Given the description of an element on the screen output the (x, y) to click on. 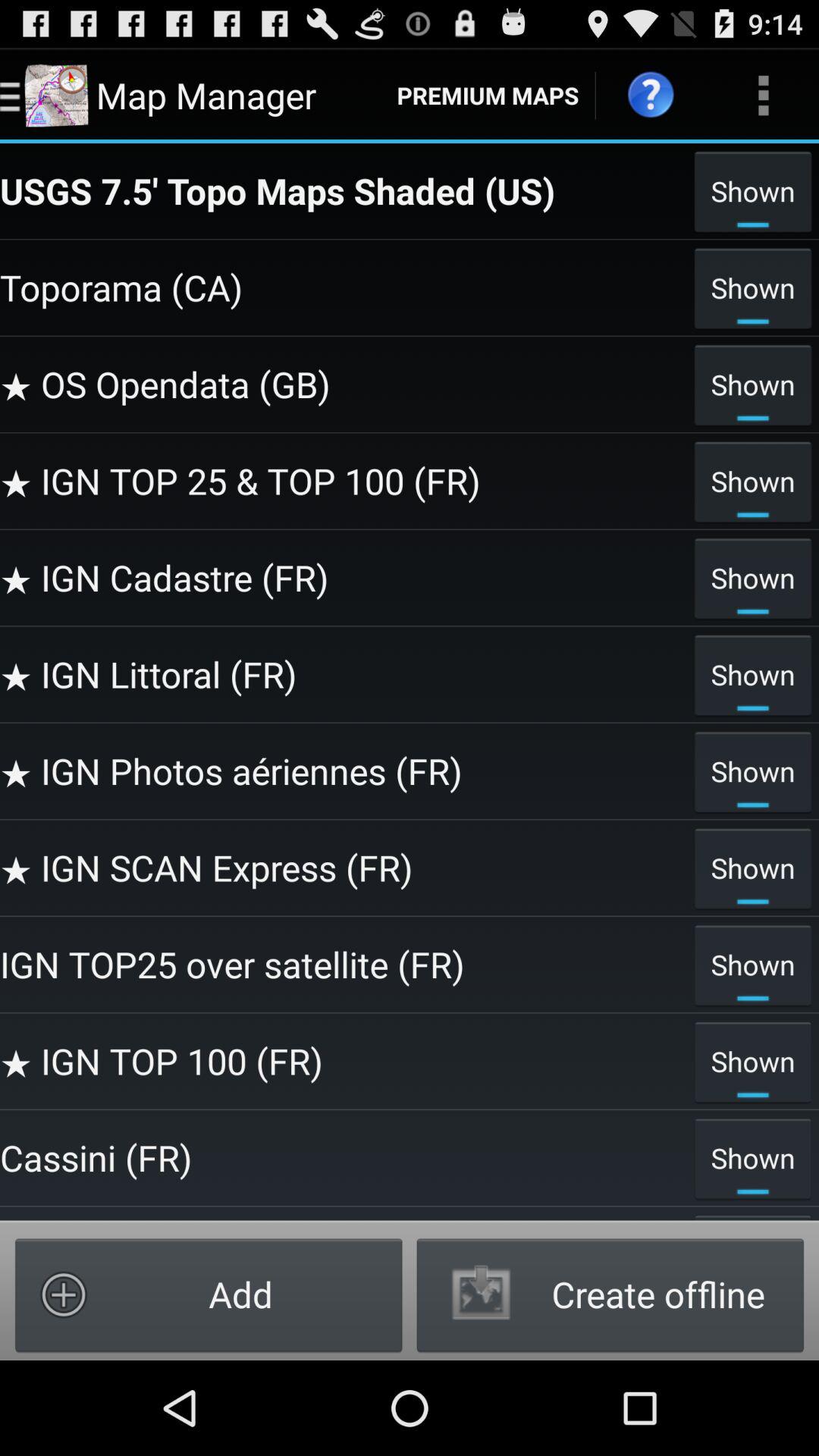
press usgs 7 5 item (343, 190)
